Given the description of an element on the screen output the (x, y) to click on. 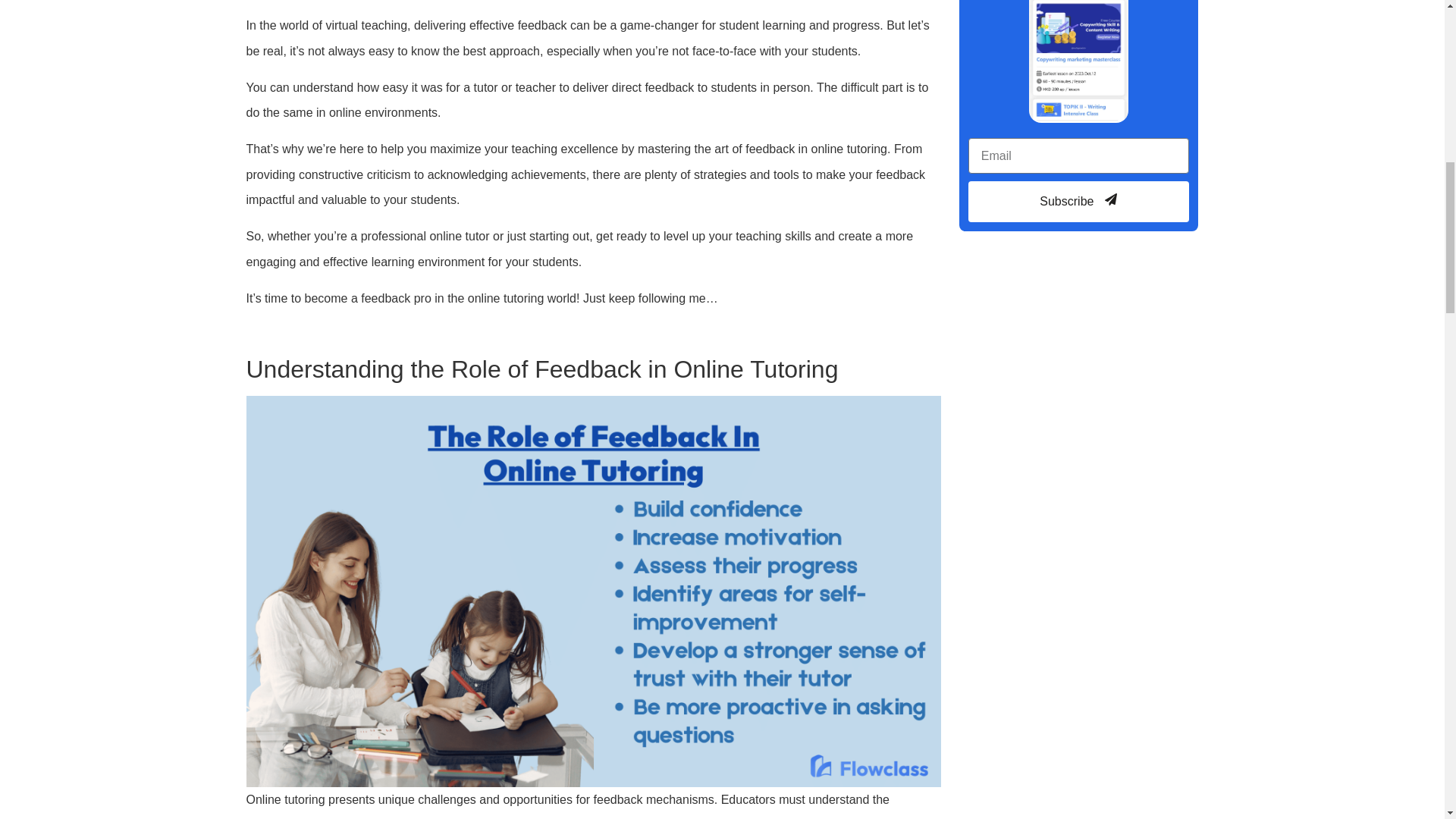
Subscribe (1078, 200)
